Given the description of an element on the screen output the (x, y) to click on. 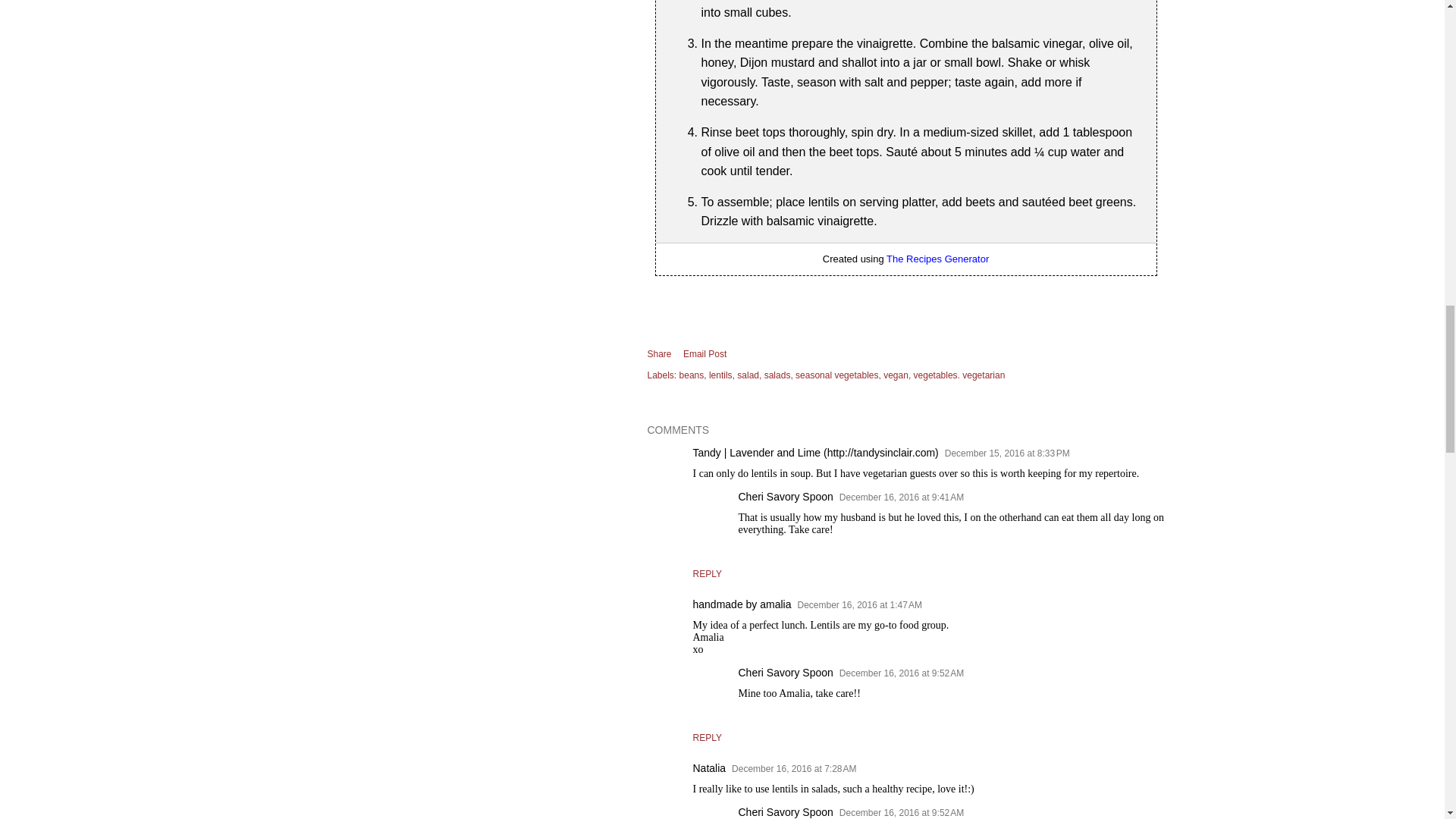
Email Post (704, 354)
vegan (897, 375)
REPLY (707, 573)
vegetables. vegetarian (960, 375)
Share (659, 353)
Cheri Savory Spoon (785, 496)
handmade by amalia (742, 604)
lentils (722, 375)
